Given the description of an element on the screen output the (x, y) to click on. 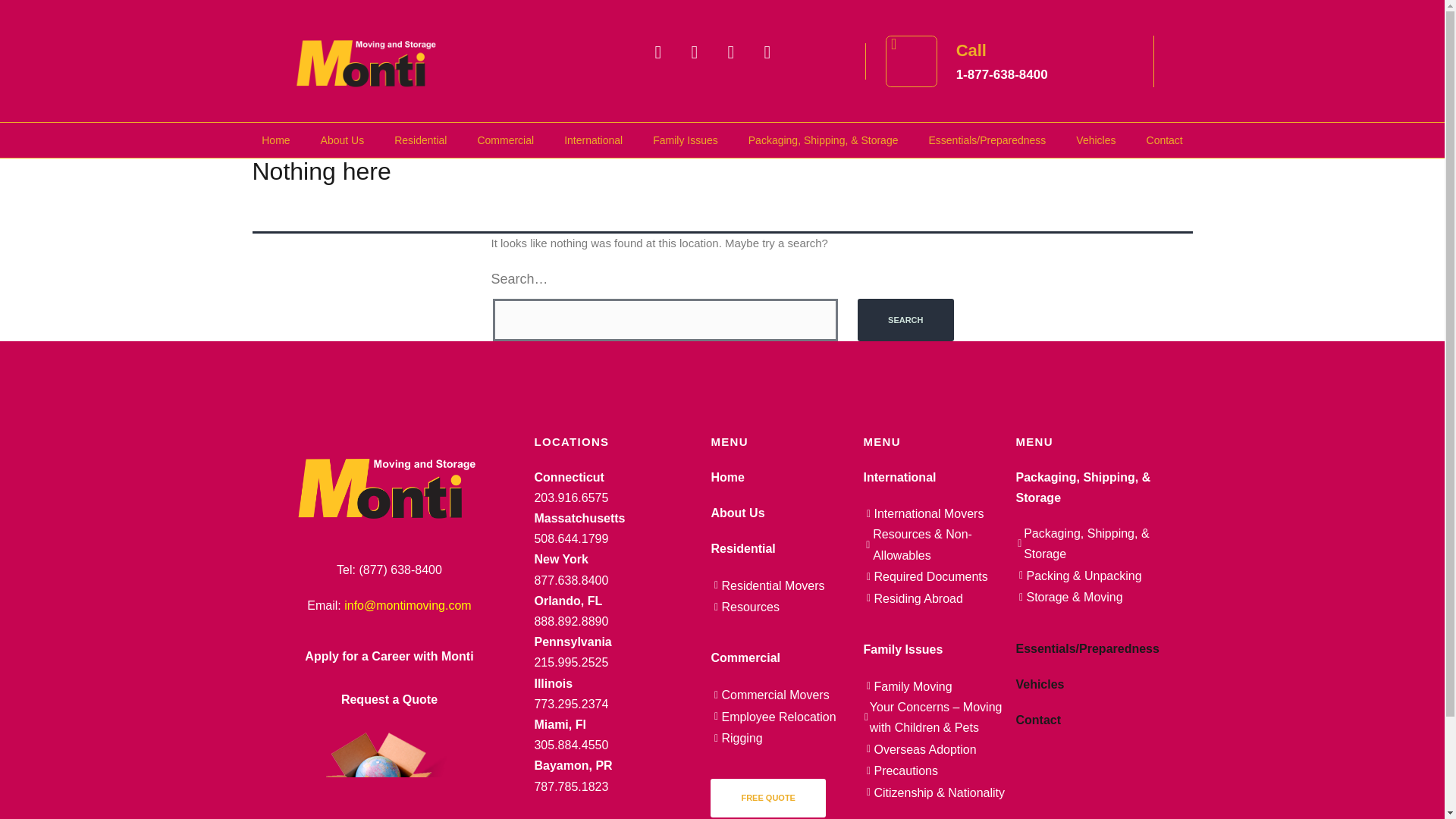
Search (905, 320)
Residential (419, 140)
Vehicles (1096, 140)
Search (905, 320)
Family Issues (685, 140)
Contact (1164, 140)
International (592, 140)
About Us (342, 140)
Home (275, 140)
Commercial (504, 140)
